Given the description of an element on the screen output the (x, y) to click on. 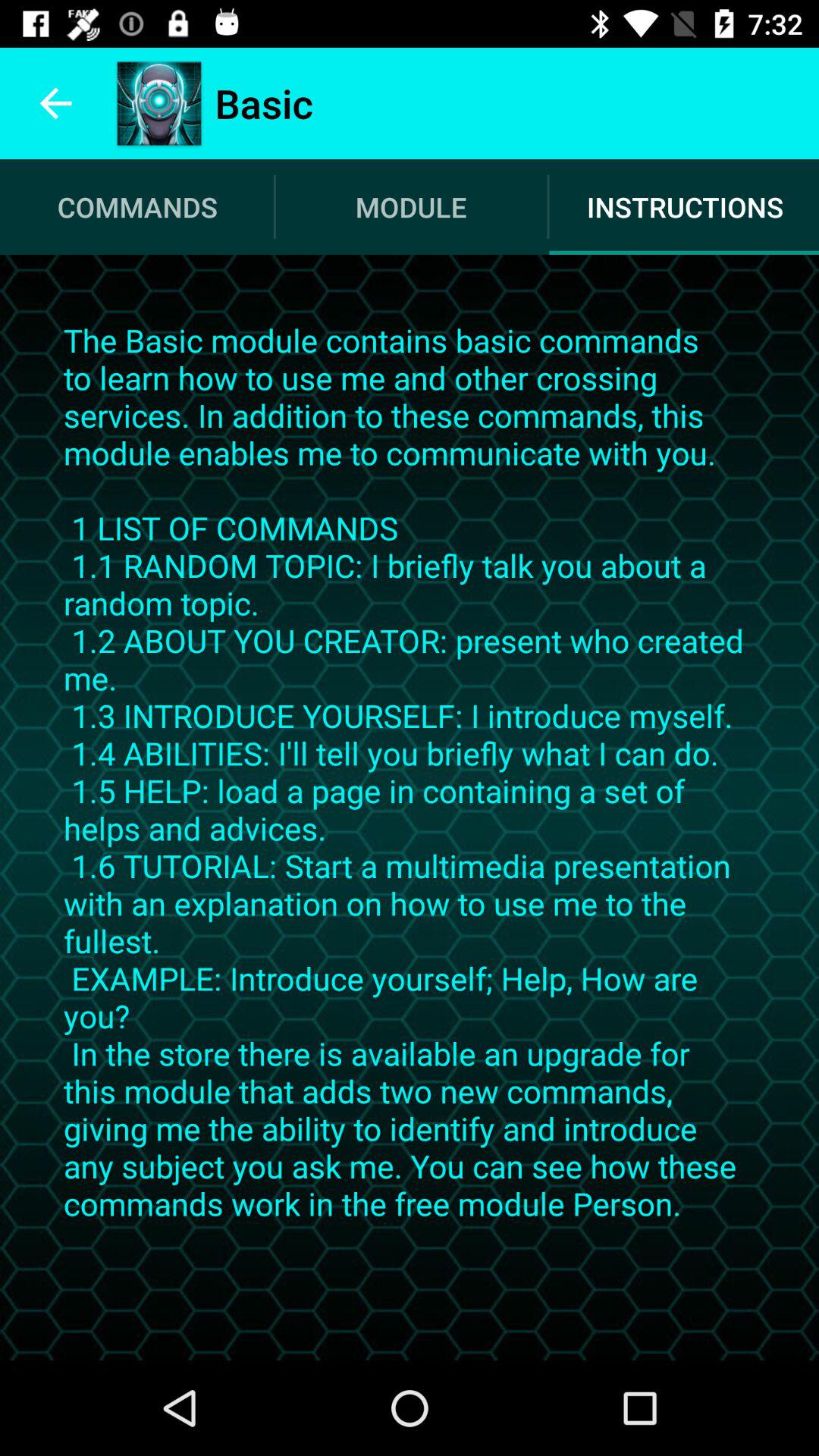
open icon above the commands item (55, 103)
